Given the description of an element on the screen output the (x, y) to click on. 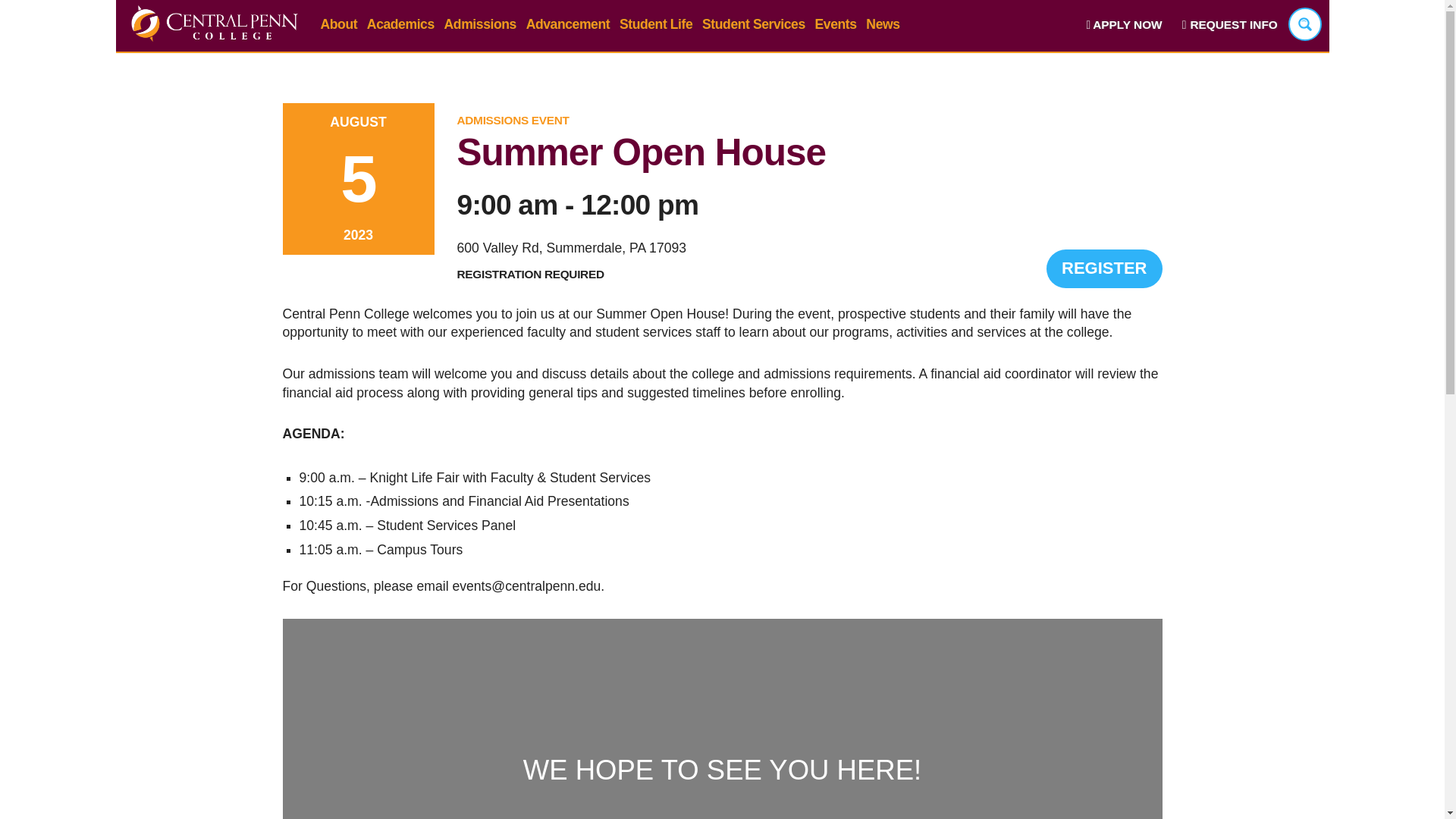
Academics (399, 23)
Advancement (567, 23)
Student Life (656, 23)
Admissions (480, 23)
Student Services (753, 23)
About (338, 23)
